Given the description of an element on the screen output the (x, y) to click on. 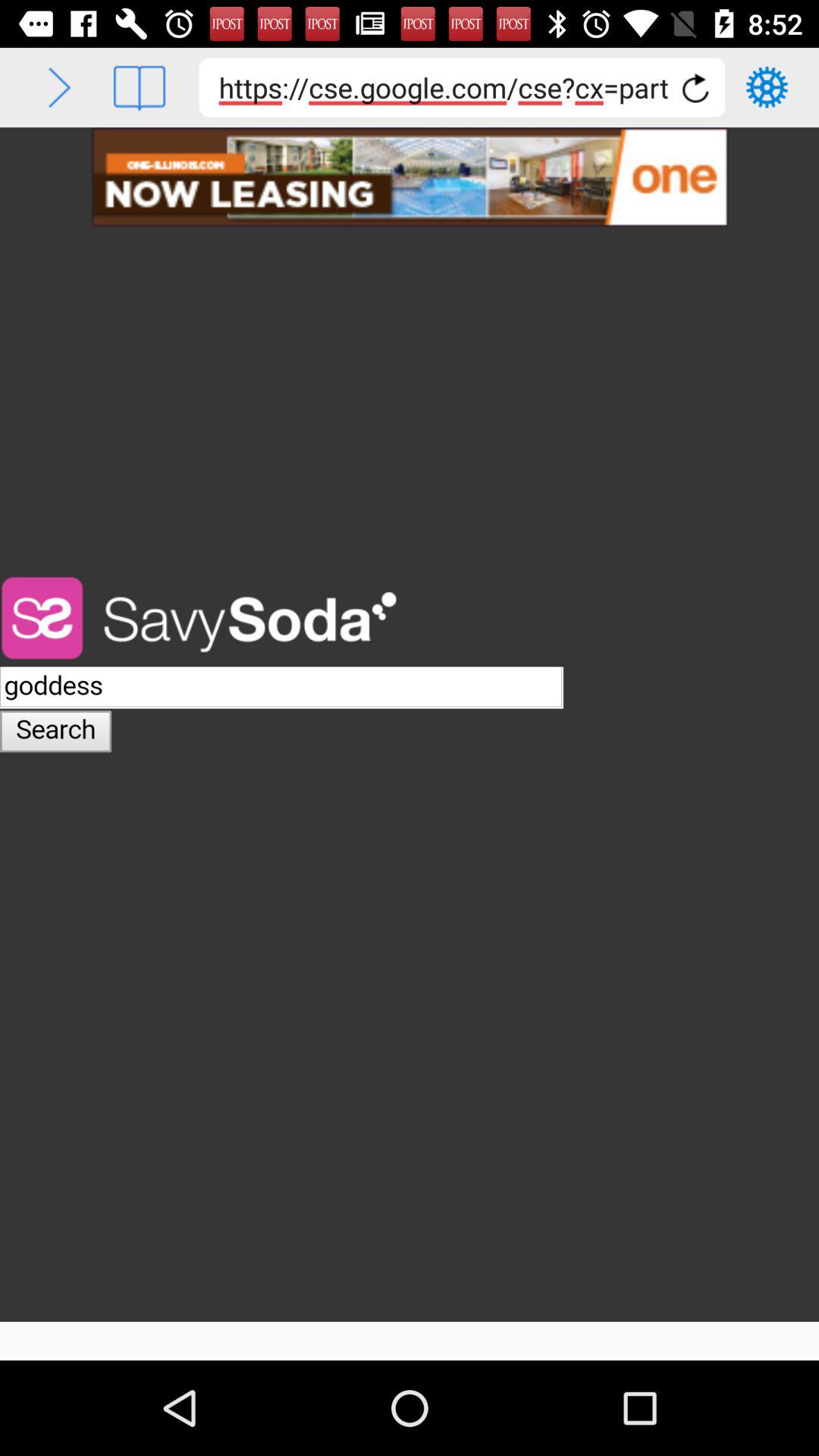
reader view (139, 87)
